Given the description of an element on the screen output the (x, y) to click on. 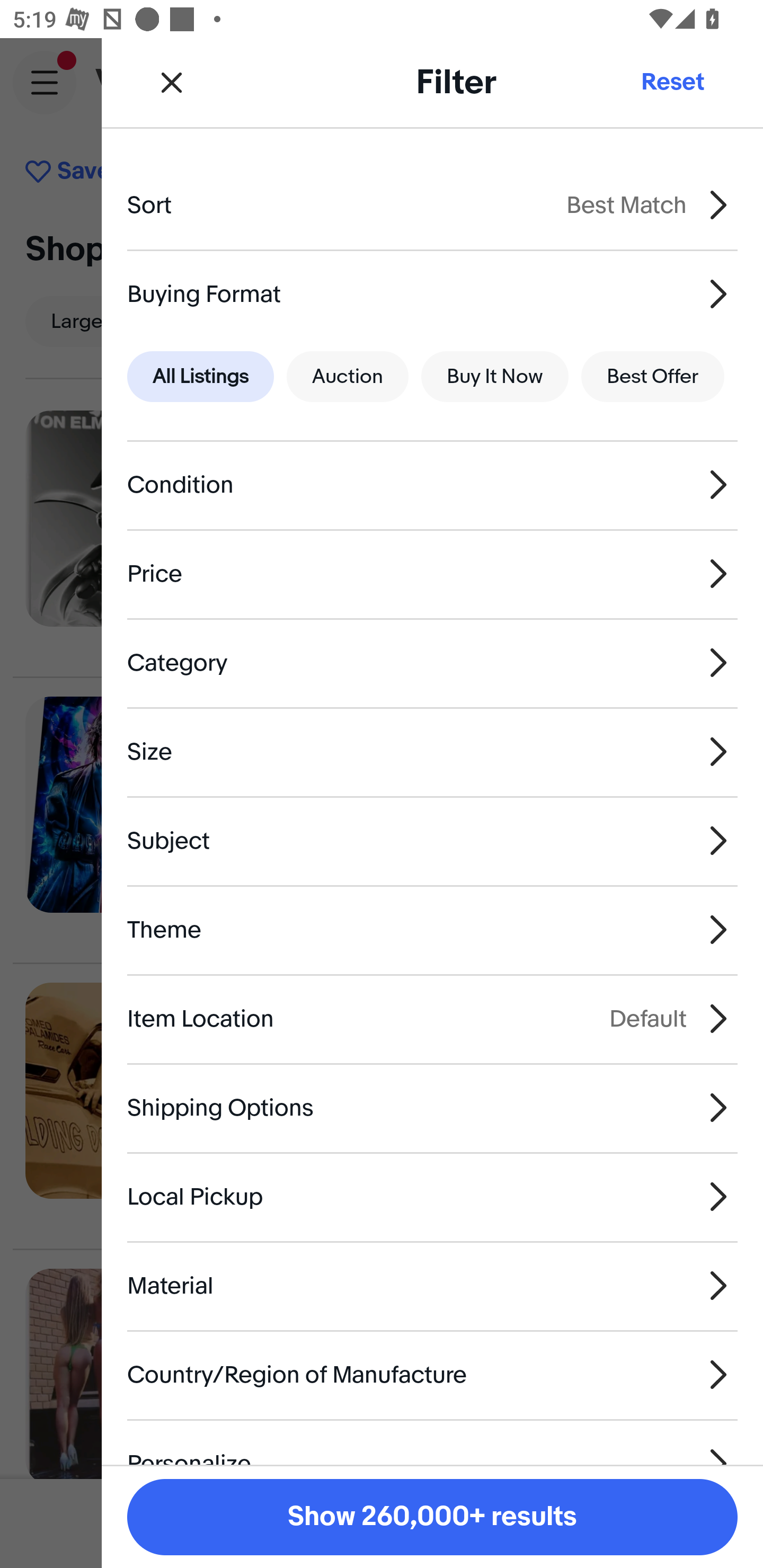
Close Filter (171, 81)
Reset (672, 81)
Buying Format (432, 293)
All Listings (200, 376)
Auction (347, 376)
Buy It Now (494, 376)
Best Offer (652, 376)
Condition (432, 484)
Price (432, 573)
Category (432, 662)
Size (432, 751)
Subject (432, 840)
Theme (432, 929)
Item Location Default (432, 1018)
Shipping Options (432, 1107)
Local Pickup (432, 1196)
Material (432, 1285)
Country/Region of Manufacture (432, 1374)
Show 260,000+ results (432, 1516)
